Given the description of an element on the screen output the (x, y) to click on. 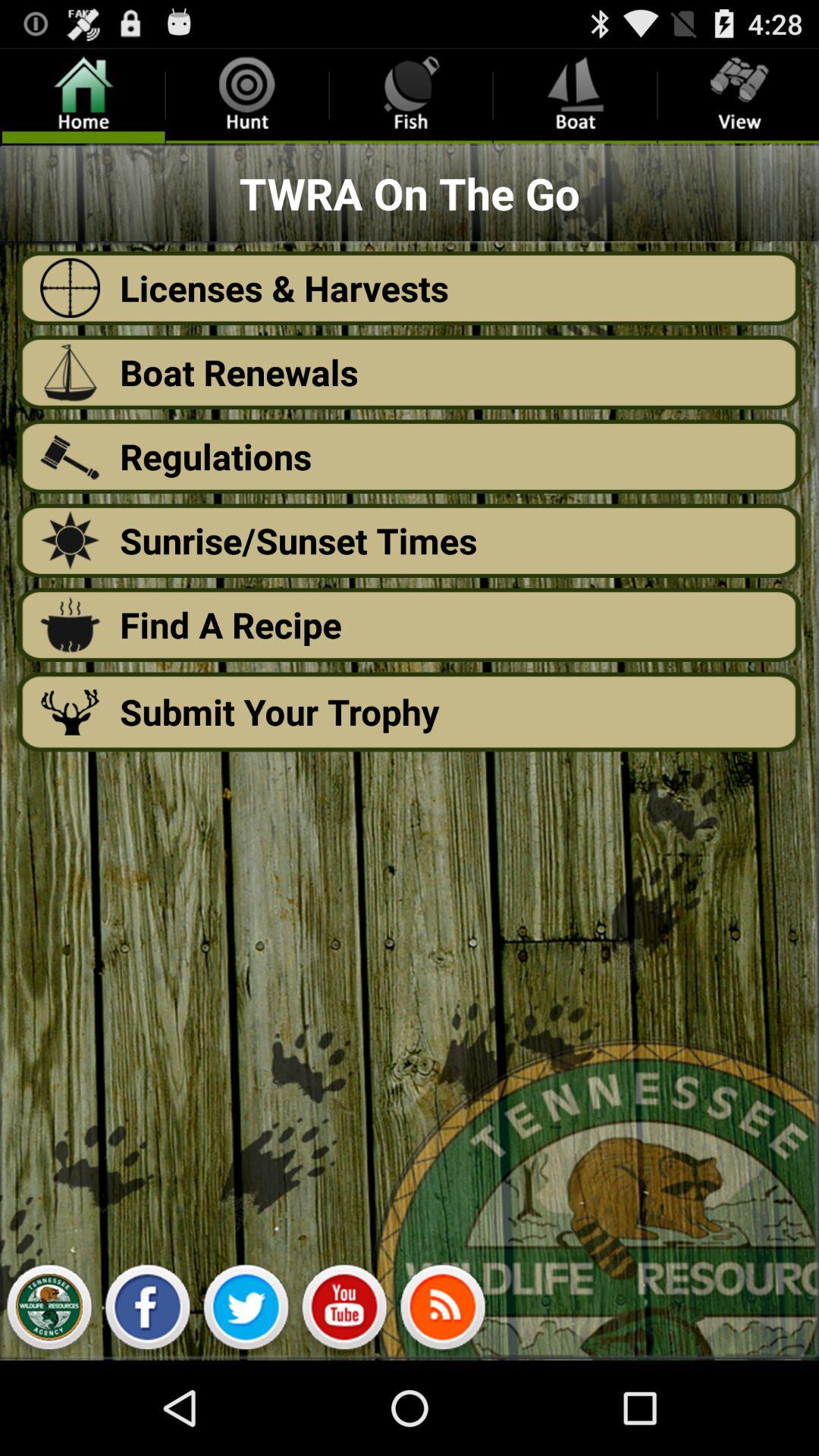
go to youtube (344, 1311)
